Given the description of an element on the screen output the (x, y) to click on. 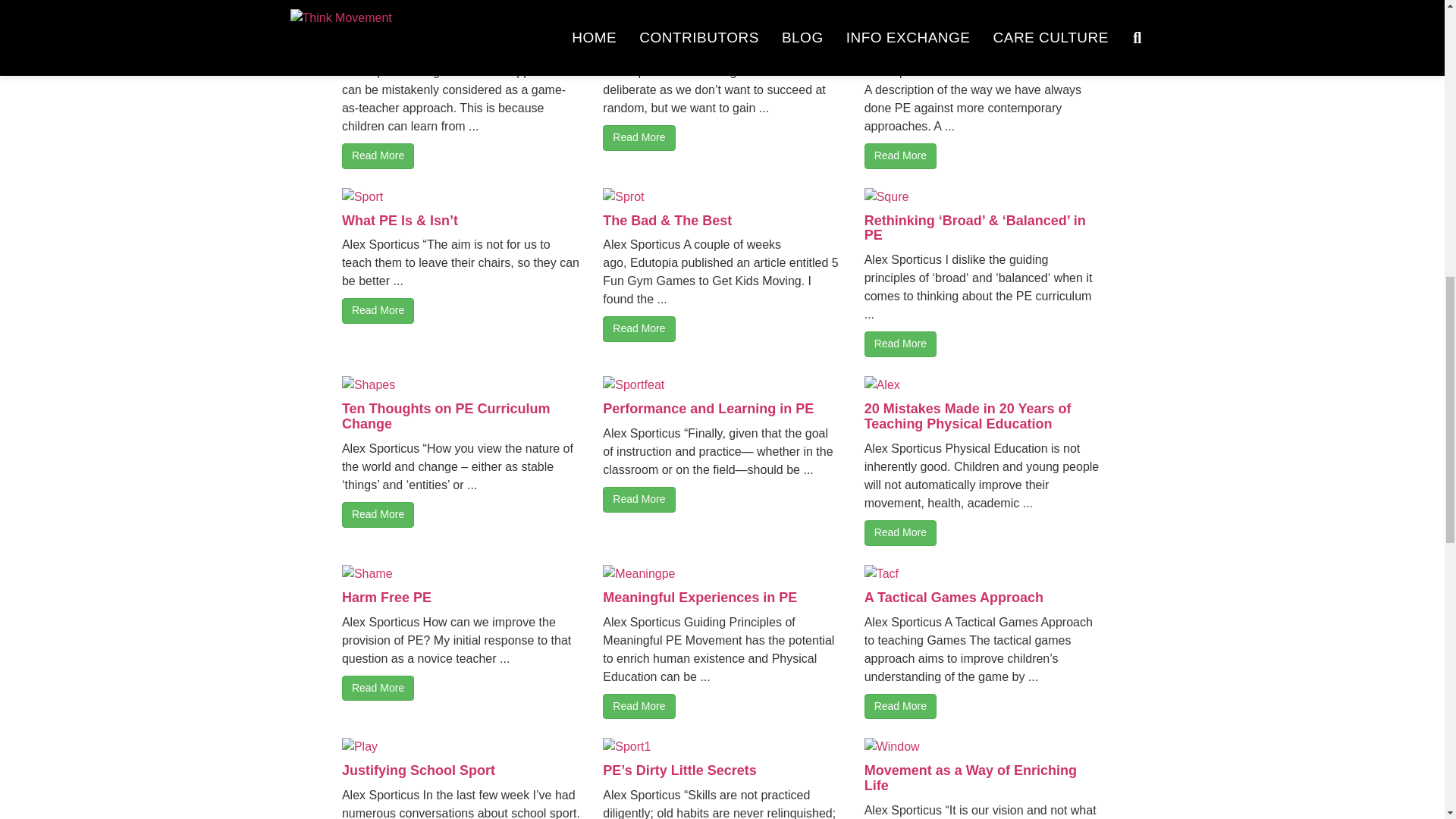
Play with Purpose (401, 46)
A Spectrum of Teaching Styles (702, 46)
Read More (377, 310)
Read More (900, 155)
Read More (638, 137)
Read More (638, 329)
Read More (377, 155)
Traditions of PE vs. Traditional PE (975, 46)
